Given the description of an element on the screen output the (x, y) to click on. 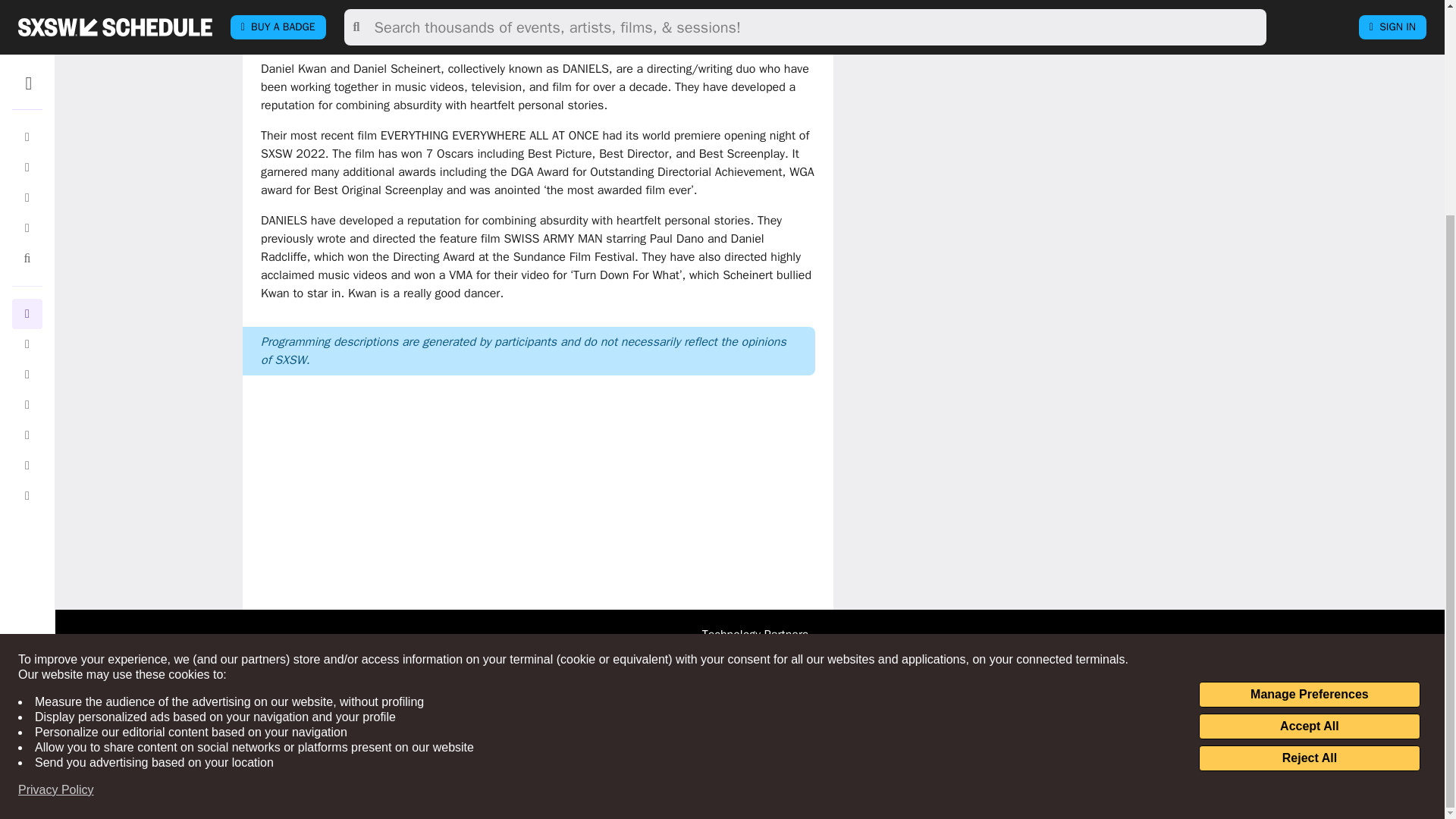
Reject All (1309, 475)
Privacy Policy (55, 507)
Manage Preferences (1309, 412)
Accept All (1309, 444)
